Given the description of an element on the screen output the (x, y) to click on. 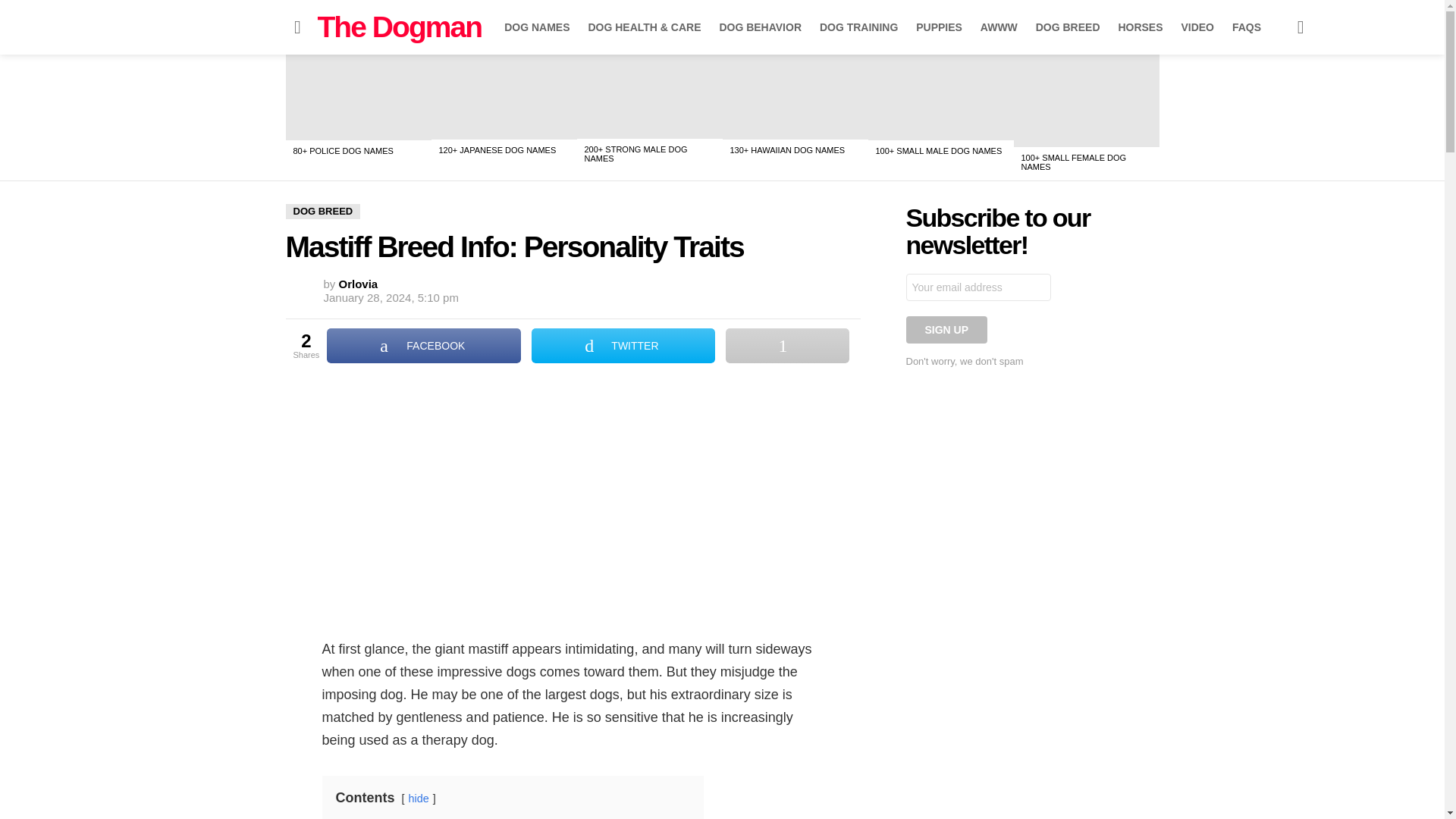
DOG BREED (1067, 26)
VIDEO (1197, 26)
HORSES (1139, 26)
Posts by Orlovia (358, 283)
Share on More Button (787, 345)
Menu (296, 27)
FACEBOOK (423, 345)
The Dogman (399, 26)
DOG TRAINING (858, 26)
DOG NAMES (536, 26)
